Given the description of an element on the screen output the (x, y) to click on. 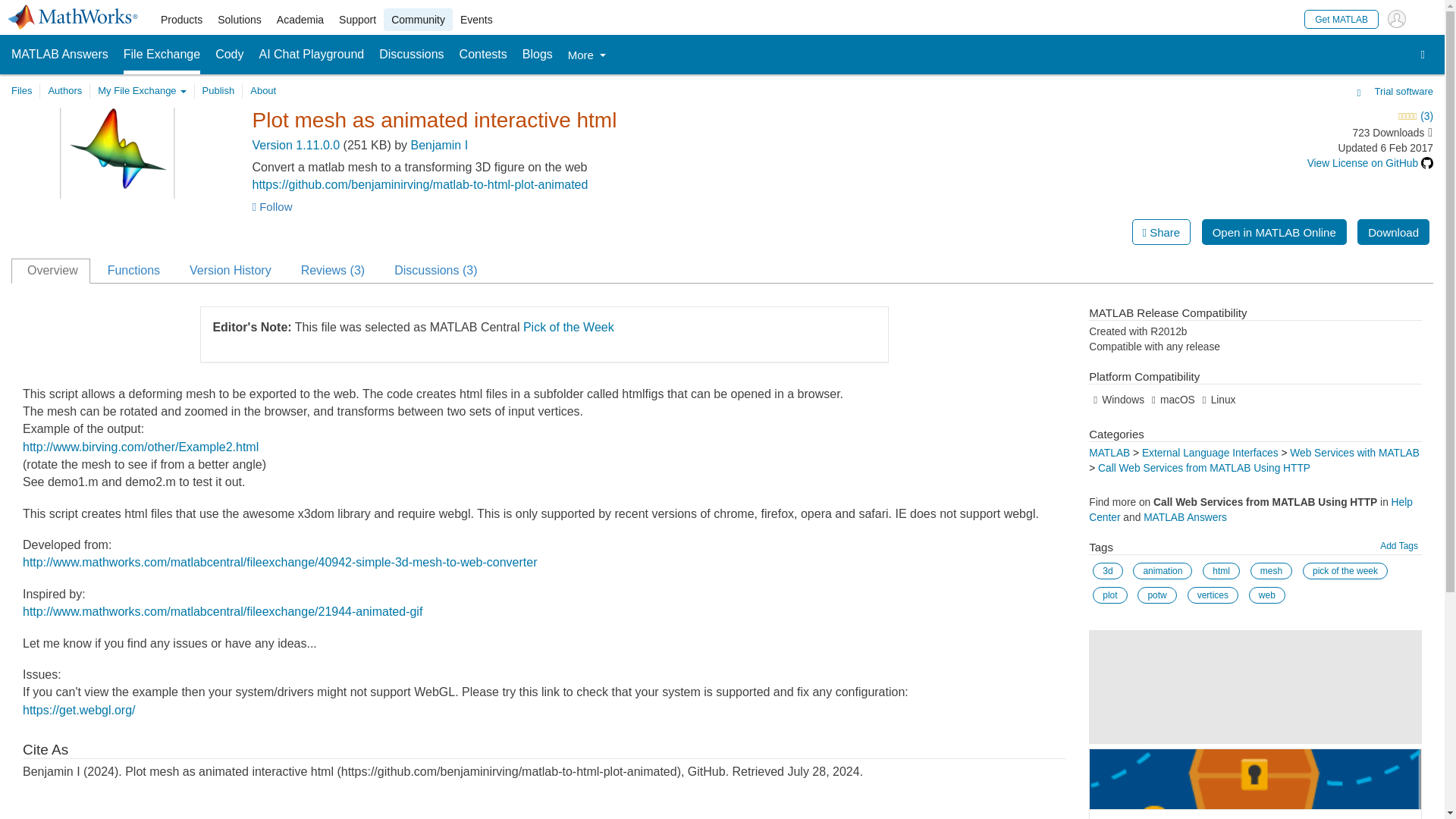
Products (180, 19)
File Exchange (161, 54)
Solutions (239, 19)
More (586, 54)
Download (1392, 231)
Contests (483, 54)
Get MATLAB (1341, 18)
Events (476, 19)
Support (357, 19)
AI Chat Playground (312, 54)
MATLAB Answers (59, 54)
Discussions (411, 54)
4.70 out of 5 stars (1293, 116)
Blogs (537, 54)
Sign In to Your MathWorks Account (1396, 18)
